Given the description of an element on the screen output the (x, y) to click on. 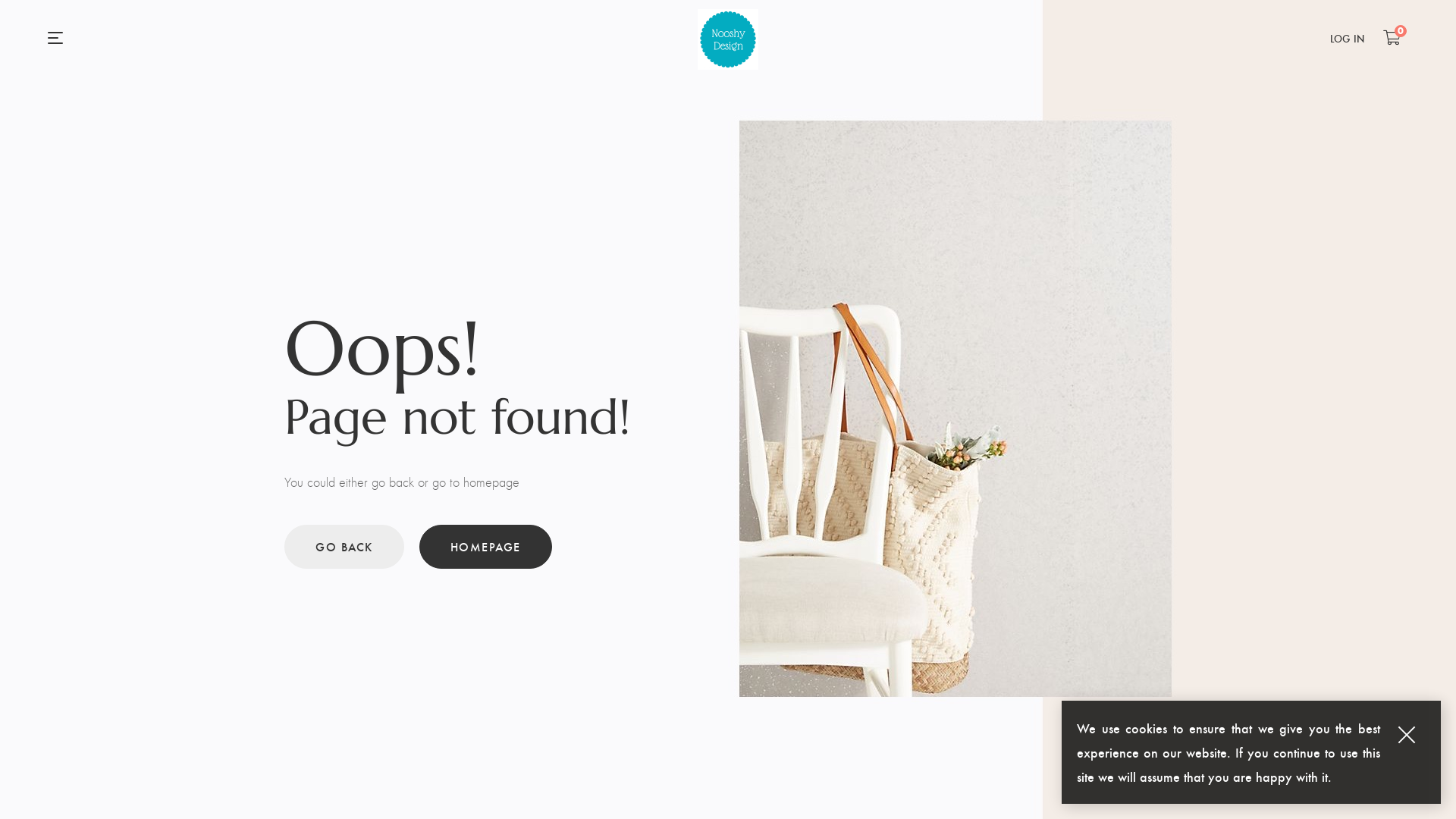
HOMEPAGE Element type: text (484, 546)
0 Element type: text (1391, 37)
GO BACK Element type: text (344, 546)
LOG IN Element type: text (1347, 38)
